Given the description of an element on the screen output the (x, y) to click on. 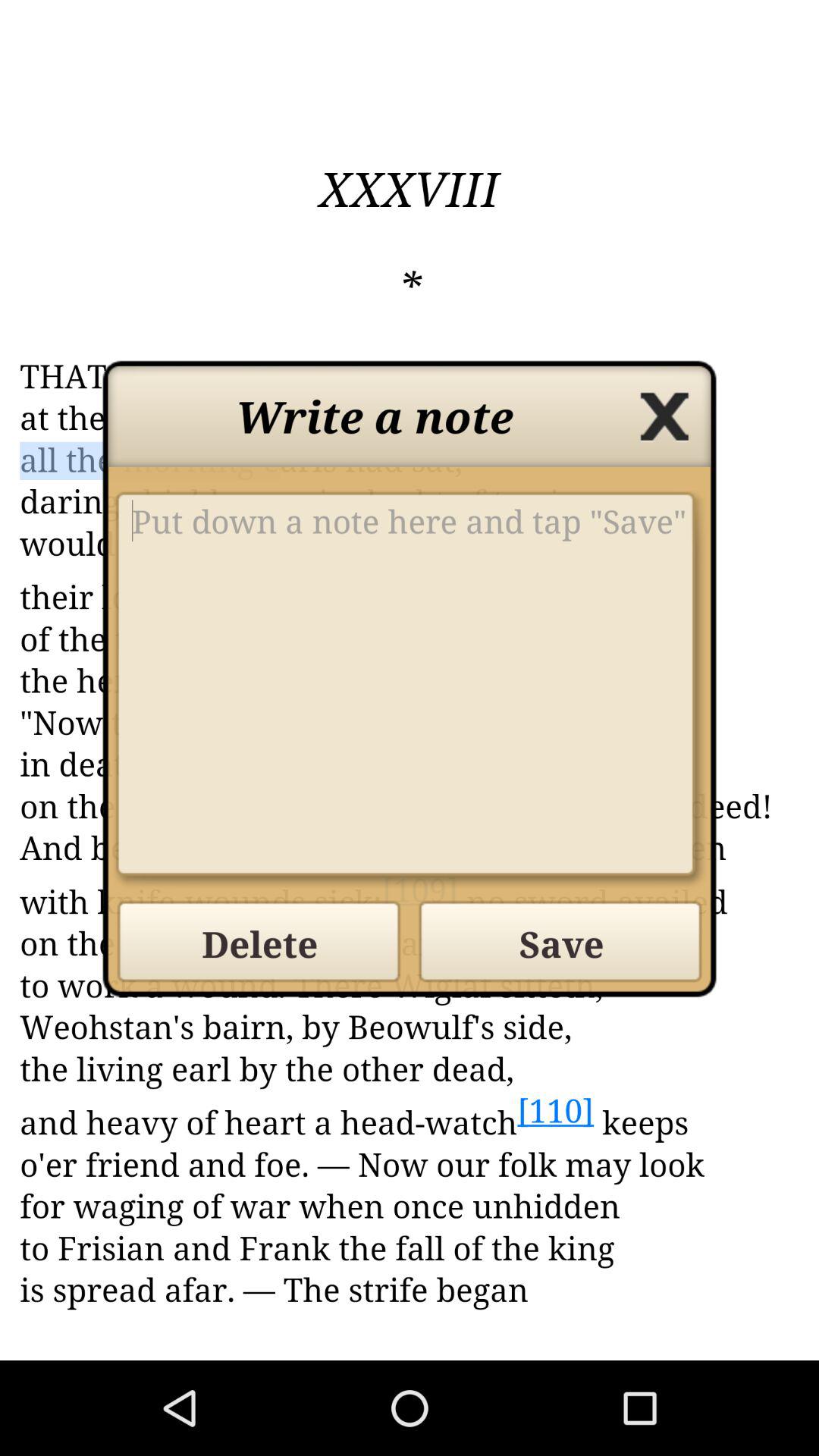
write a note as pop up box (409, 689)
